Given the description of an element on the screen output the (x, y) to click on. 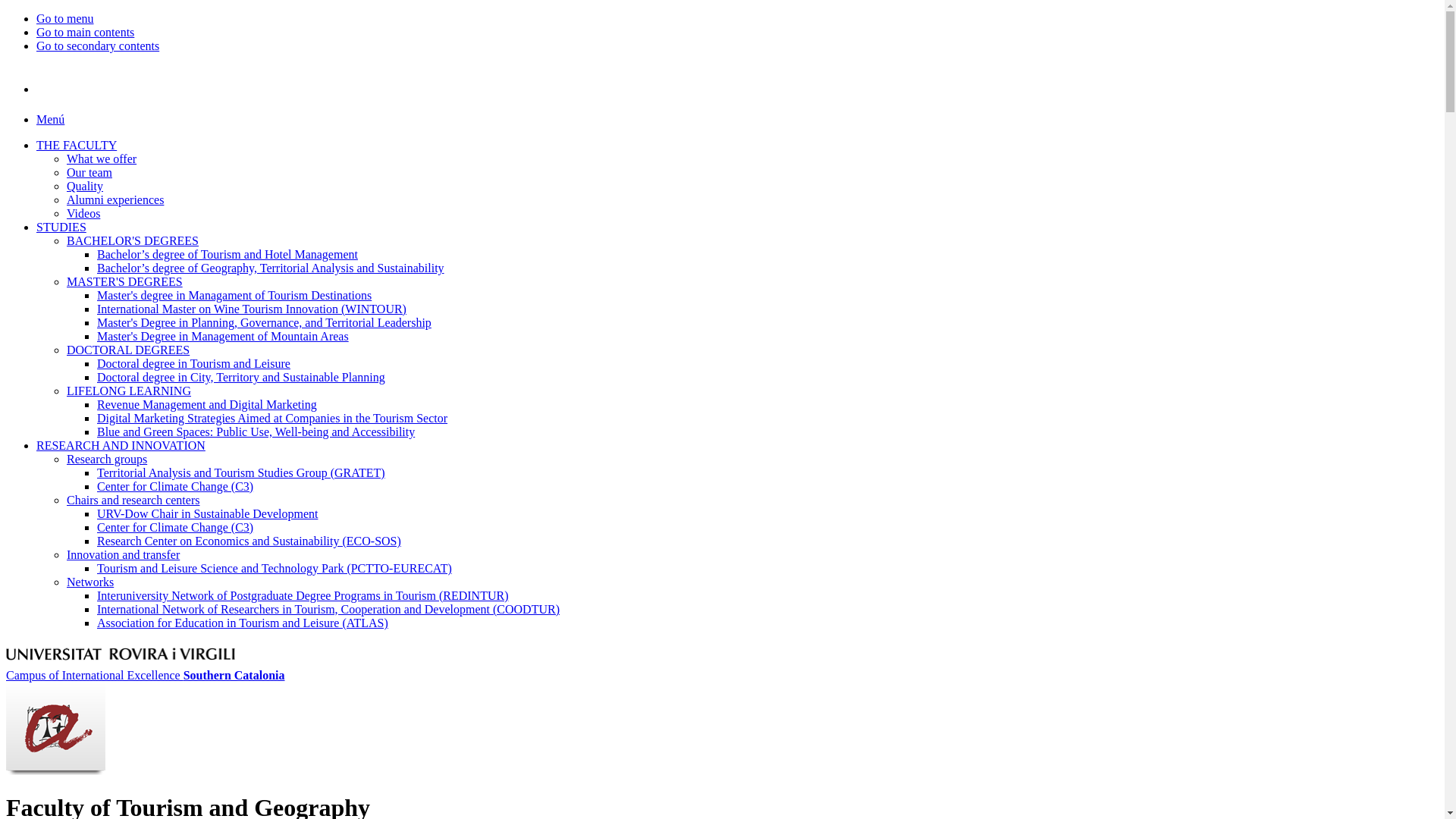
What we offer Element type: text (101, 158)
RESEARCH AND INNOVATION Element type: text (120, 445)
Our team Element type: text (89, 172)
Go to secondary contents Element type: text (97, 45)
International Master on Wine Tourism Innovation (WINTOUR) Element type: text (251, 308)
Master's degree in Managament of Tourism Destinations Element type: text (234, 294)
Revenue Management and Digital Marketing Element type: text (206, 404)
Doctoral degree in Tourism and Leisure Element type: text (193, 363)
Go to main contents Element type: text (85, 31)
Doctoral degree in City, Territory and Sustainable Planning Element type: text (241, 376)
Association for Education in Tourism and Leisure (ATLAS) Element type: text (242, 622)
Innovation and transfer Element type: text (122, 554)
Campus of International Excellence Southern Catalonia Element type: text (145, 674)
Master's Degree in Management of Mountain Areas Element type: text (222, 335)
Alumni experiences Element type: text (114, 199)
Research Center on Economics and Sustainability (ECO-SOS) Element type: text (249, 540)
Go to menu Element type: text (65, 18)
Center for Climate Change (C3) Element type: text (175, 526)
MASTER'S DEGREES Element type: text (124, 281)
THE FACULTY Element type: text (76, 144)
Videos Element type: text (83, 213)
Quality Element type: text (84, 185)
URV-Dow Chair in Sustainable Development Element type: text (207, 513)
LIFELONG LEARNING Element type: text (128, 390)
Territorial Analysis and Tourism Studies Group (GRATET) Element type: text (241, 472)
Research groups Element type: text (106, 458)
Center for Climate Change (C3) Element type: text (175, 486)
Networks Element type: text (89, 581)
DOCTORAL DEGREES Element type: text (127, 349)
Chairs and research centers Element type: text (132, 499)
STUDIES Element type: text (61, 226)
BACHELOR'S DEGREES Element type: text (132, 240)
